Given the description of an element on the screen output the (x, y) to click on. 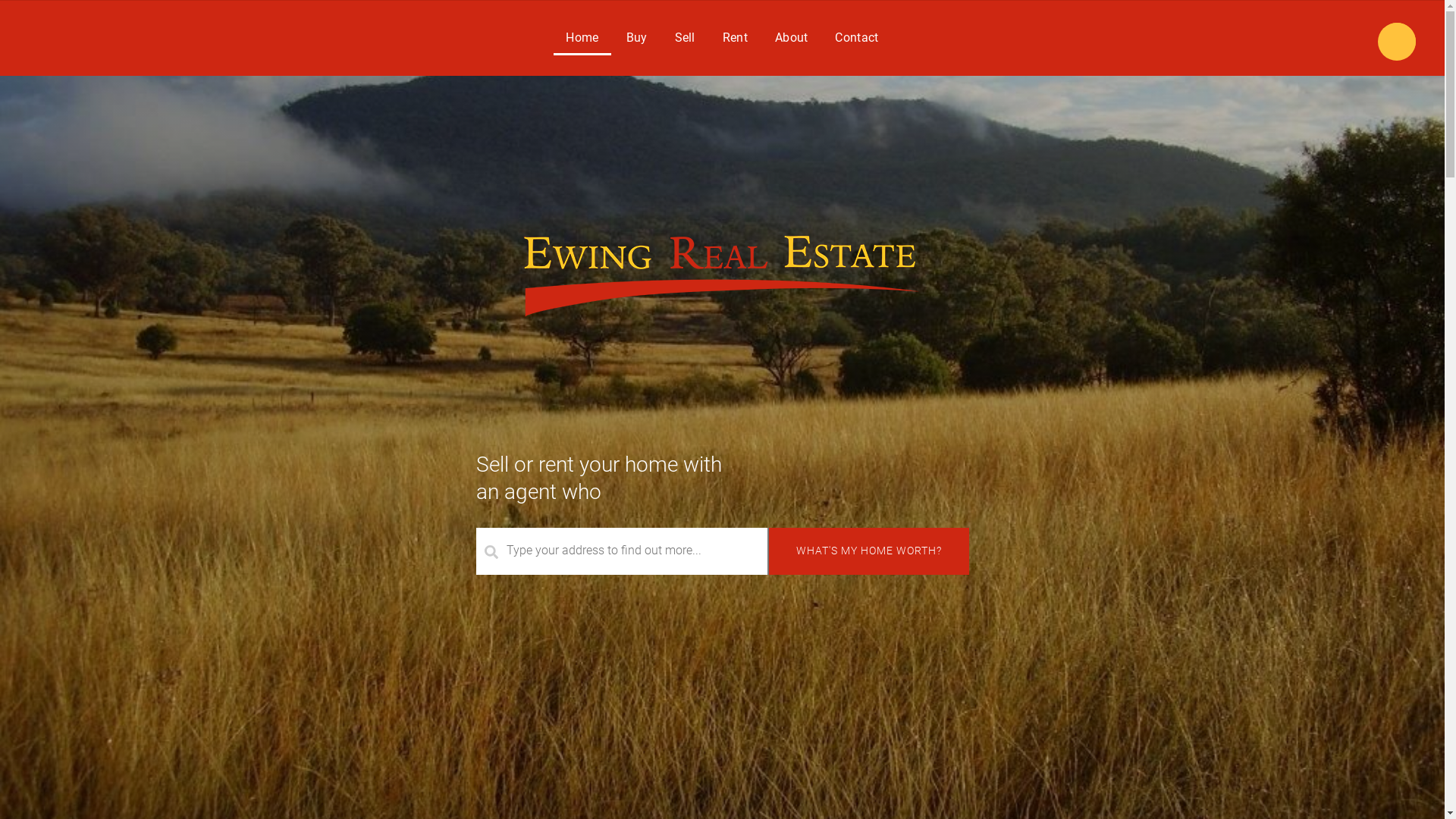
About Element type: text (791, 37)
Sell Element type: text (684, 37)
What's my home worth? Element type: text (868, 550)
Buy Element type: text (636, 37)
Home Element type: text (581, 37)
Rent Element type: text (734, 37)
Contact Element type: text (856, 37)
